Given the description of an element on the screen output the (x, y) to click on. 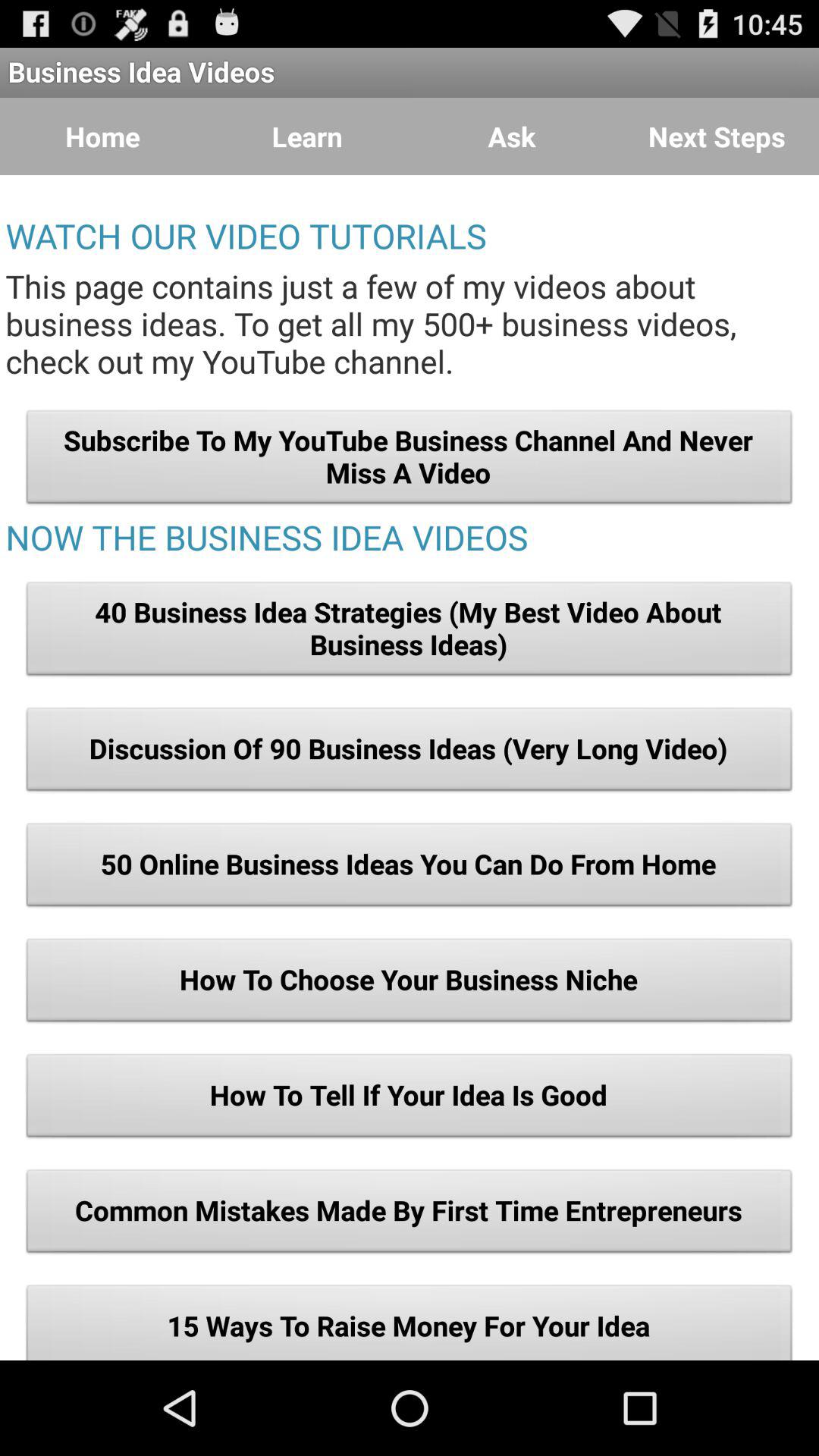
tap the button below the discussion of 90 item (409, 868)
